Given the description of an element on the screen output the (x, y) to click on. 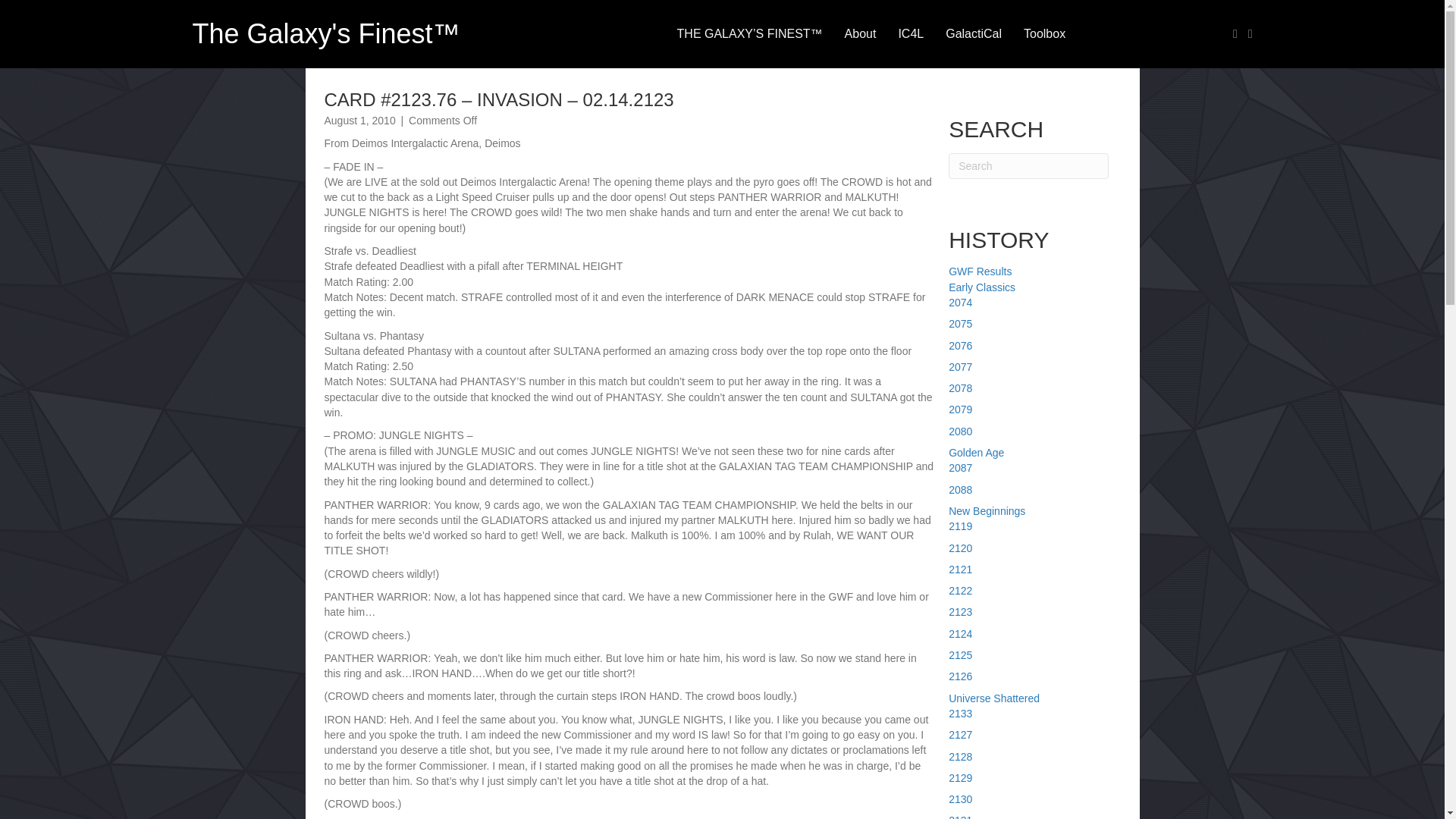
Toolbox (1044, 33)
About (860, 33)
Universe Shattered (994, 698)
2123 (960, 612)
2074 (960, 302)
GWF Results (980, 271)
2078 (960, 387)
2125 (960, 654)
2124 (960, 633)
Golden Age (976, 452)
